Given the description of an element on the screen output the (x, y) to click on. 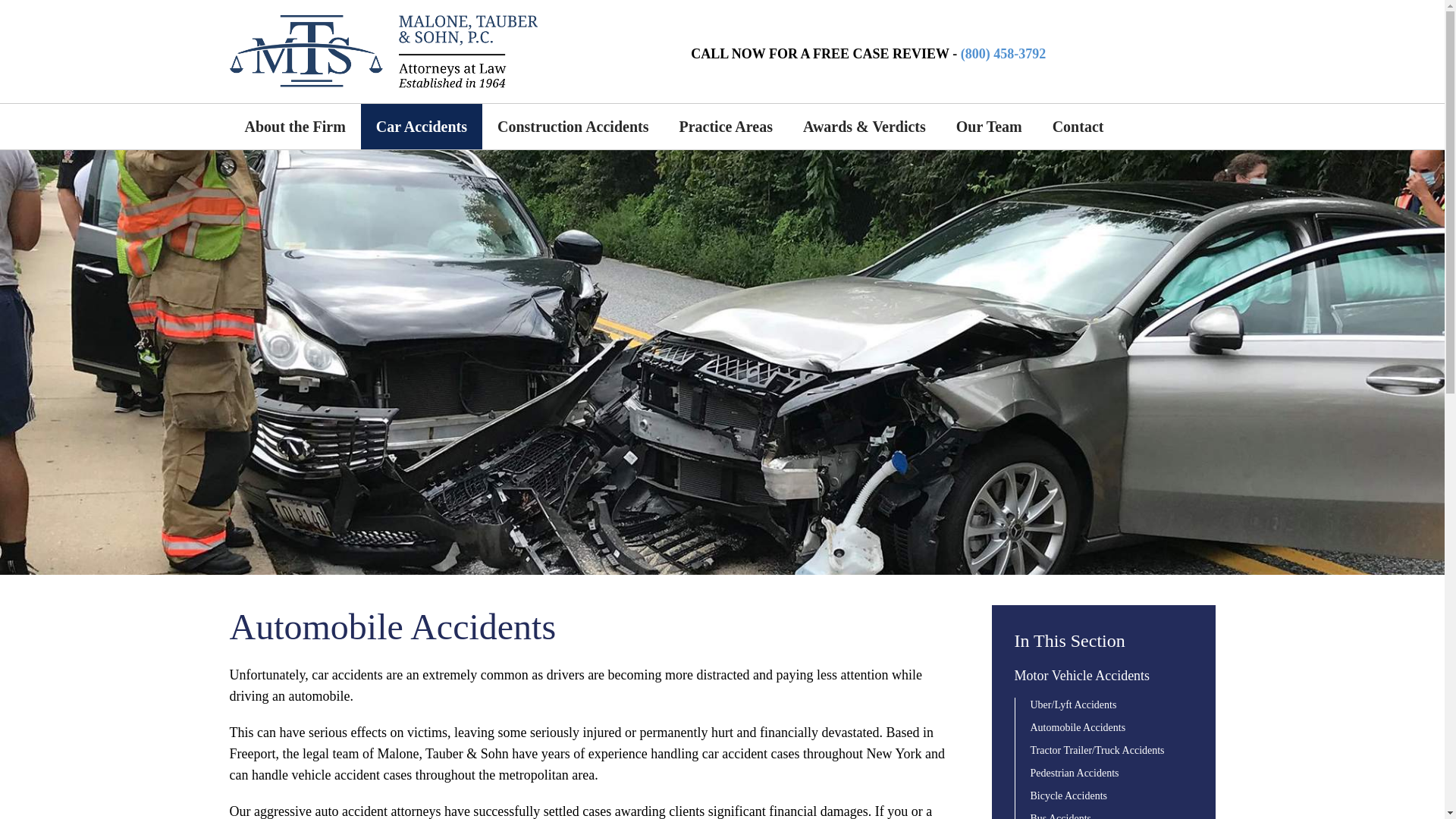
About the Firm (293, 126)
Our Team (988, 126)
Bus Accidents (1059, 816)
Return to the homepage (382, 51)
Practice Areas (725, 126)
Practice Areas (725, 126)
Bicycle Accidents (1067, 795)
Contact (1077, 126)
Car Accidents (421, 126)
Automobile Accidents (1077, 727)
Construction Accidents (572, 126)
Motor Vehicle Accidents (1082, 675)
Pedestrian Accidents (1073, 772)
Construction Accidents (572, 126)
Car Accidents (421, 126)
